Given the description of an element on the screen output the (x, y) to click on. 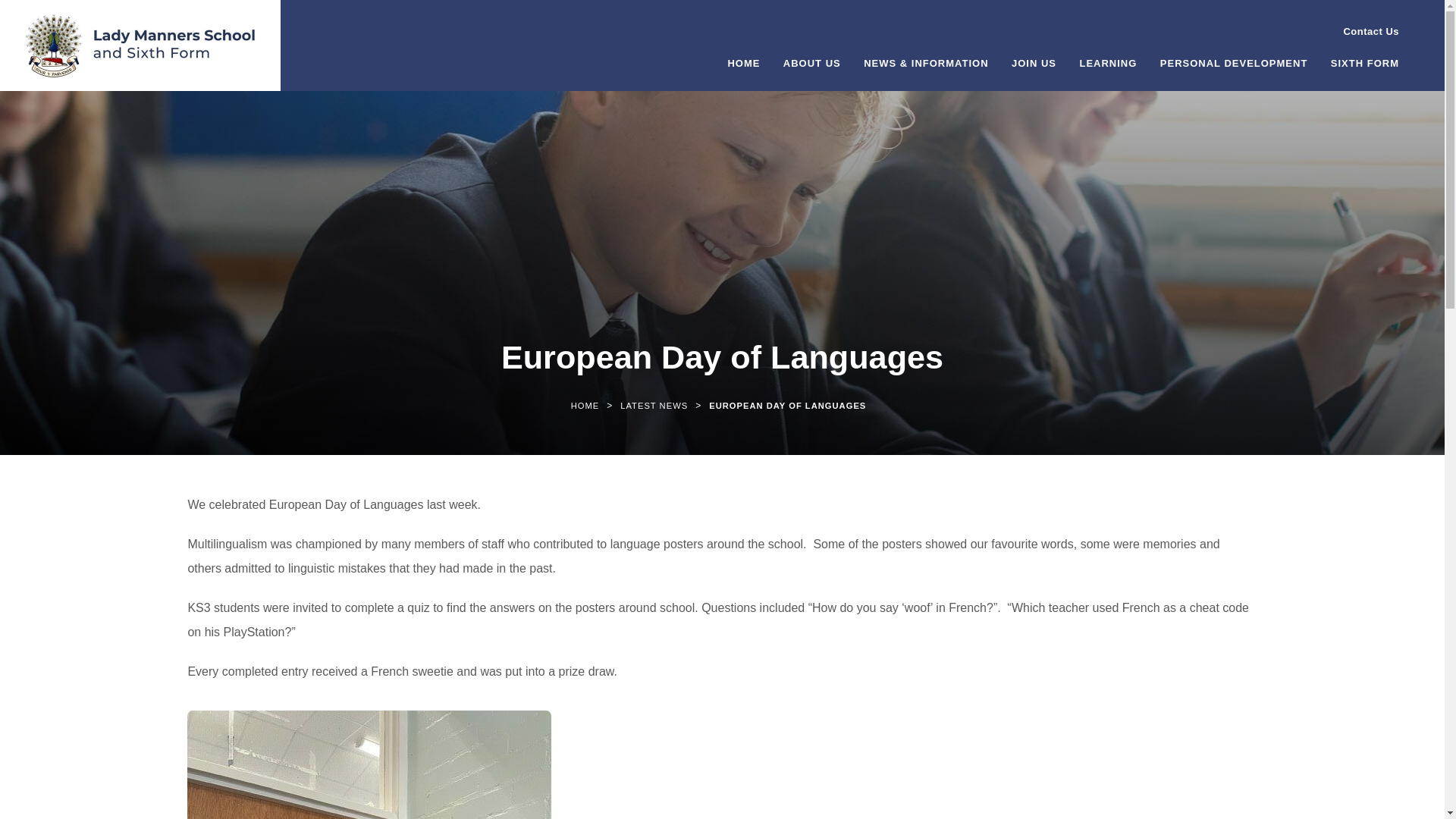
Contact Us (1363, 31)
280923 Euro Languages (369, 764)
ABOUT US (812, 70)
